Given the description of an element on the screen output the (x, y) to click on. 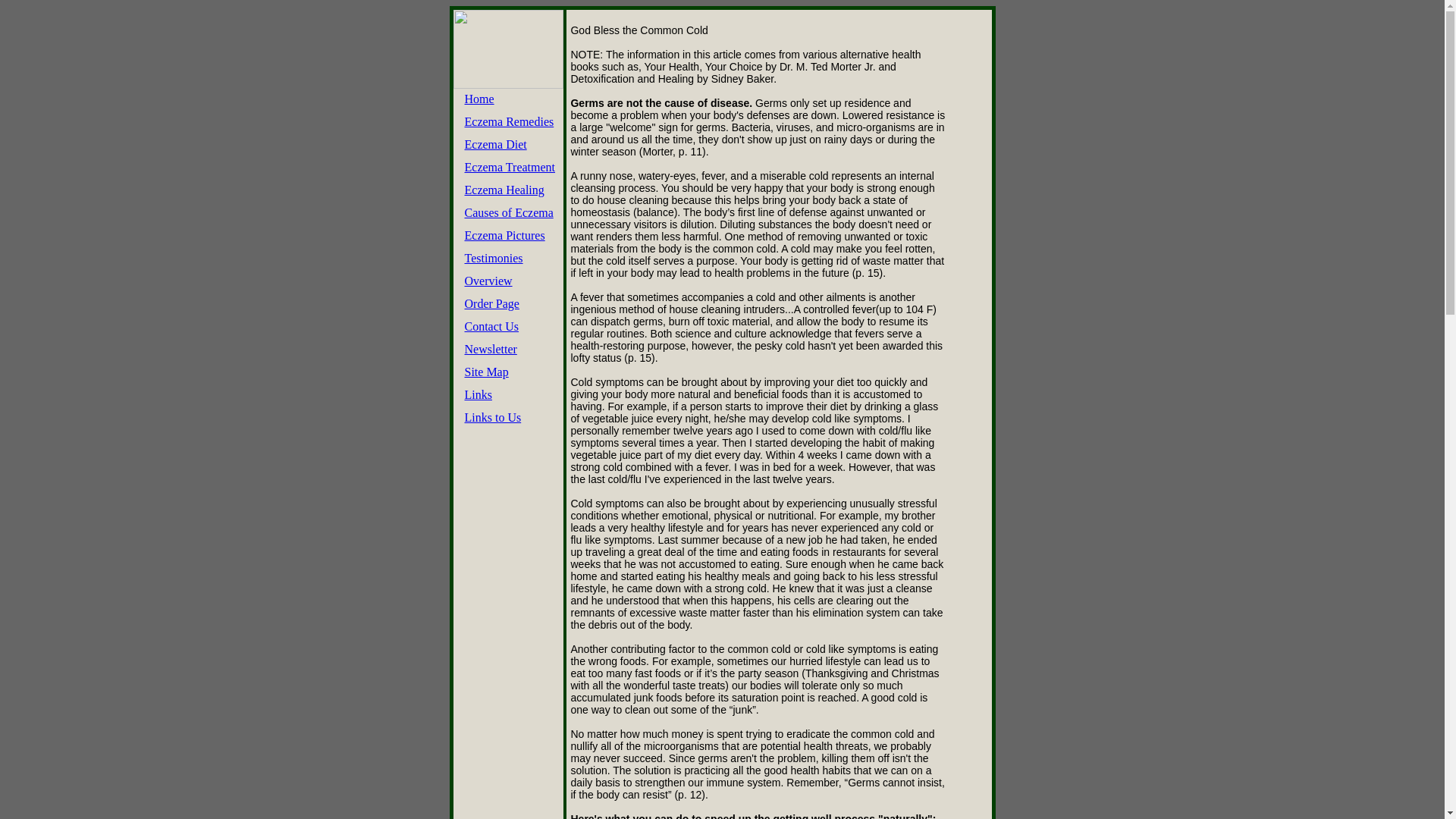
Home (478, 98)
Order Page (491, 303)
Site Map (486, 371)
Eczema Treatment (509, 166)
Eczema Healing (503, 189)
Causes of Eczema (508, 212)
Newsletter (490, 349)
Links to Us (492, 417)
Contact Us (491, 326)
Testimonies (493, 257)
Eczema Pictures (504, 235)
Overview (488, 280)
Eczema Diet (494, 144)
Links (478, 394)
Eczema Remedies (508, 121)
